Given the description of an element on the screen output the (x, y) to click on. 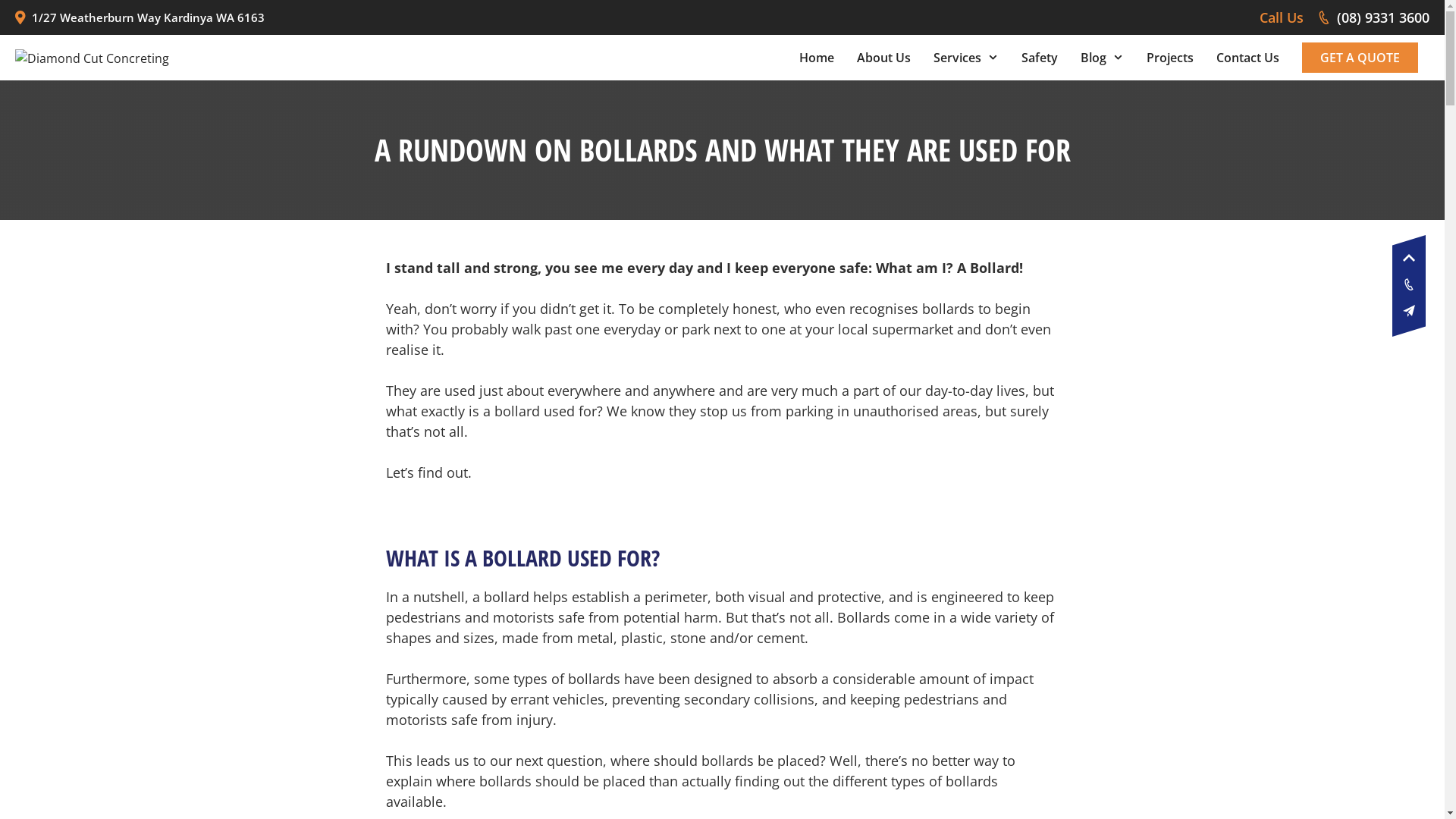
Home Element type: text (816, 57)
Projects Element type: text (1169, 57)
Contact Us Element type: text (1247, 57)
Safety Element type: text (1039, 57)
Blog Element type: text (1101, 57)
Services Element type: text (965, 57)
(08) 9331 3600 Element type: text (1373, 17)
Diamond Cut Concreting Element type: hover (92, 58)
GET A QUOTE Element type: text (1360, 57)
About Us Element type: text (883, 57)
Diamond Cut Concreting Element type: hover (92, 56)
1/27 Weatherburn Way Kardinya WA 6163 Element type: text (139, 17)
